Given the description of an element on the screen output the (x, y) to click on. 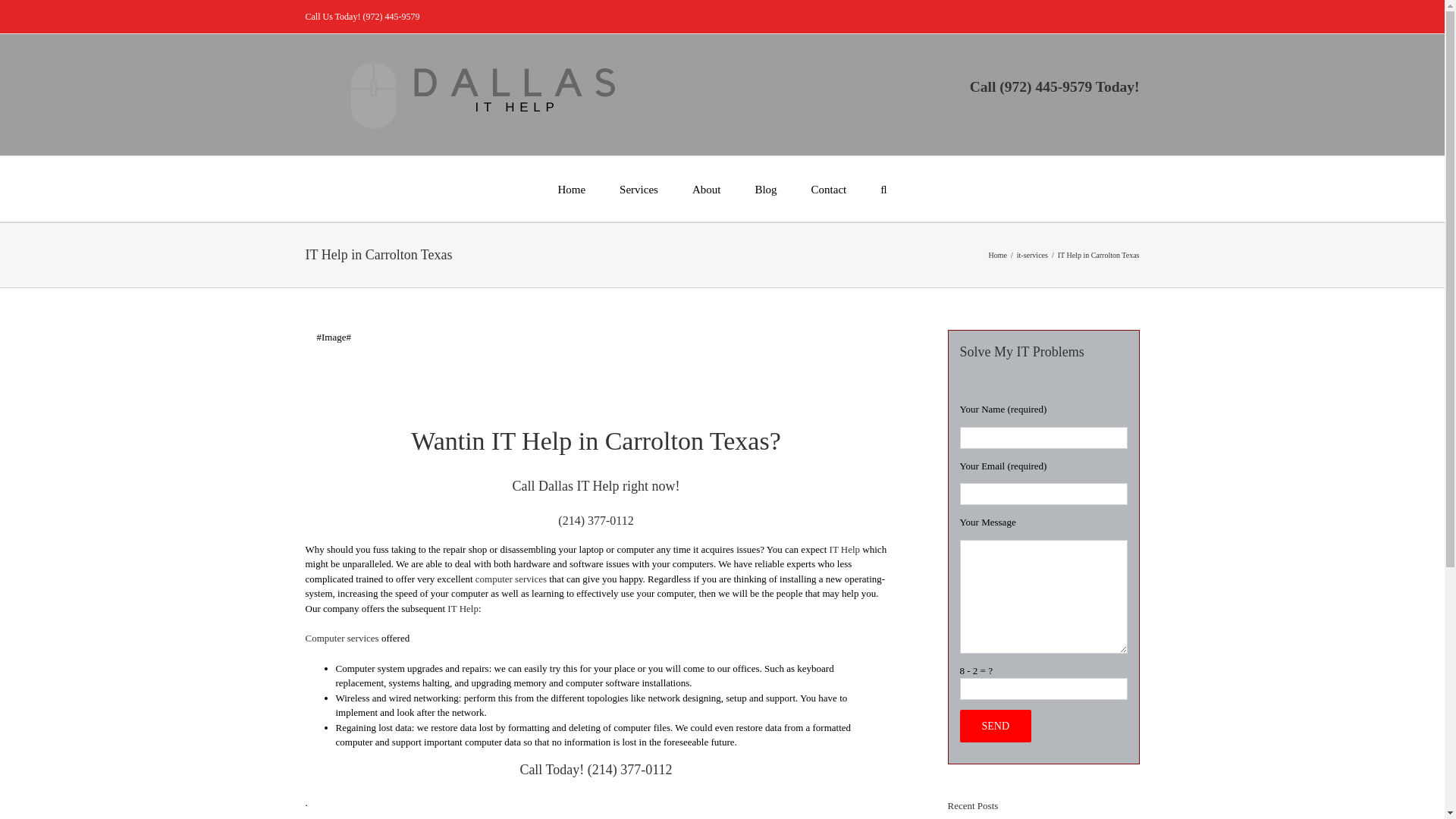
it-services (1032, 254)
Home (997, 254)
Computer services (341, 637)
computer services (511, 578)
Send (995, 726)
Send (995, 726)
IT Help (844, 549)
IT Help (462, 608)
